Given the description of an element on the screen output the (x, y) to click on. 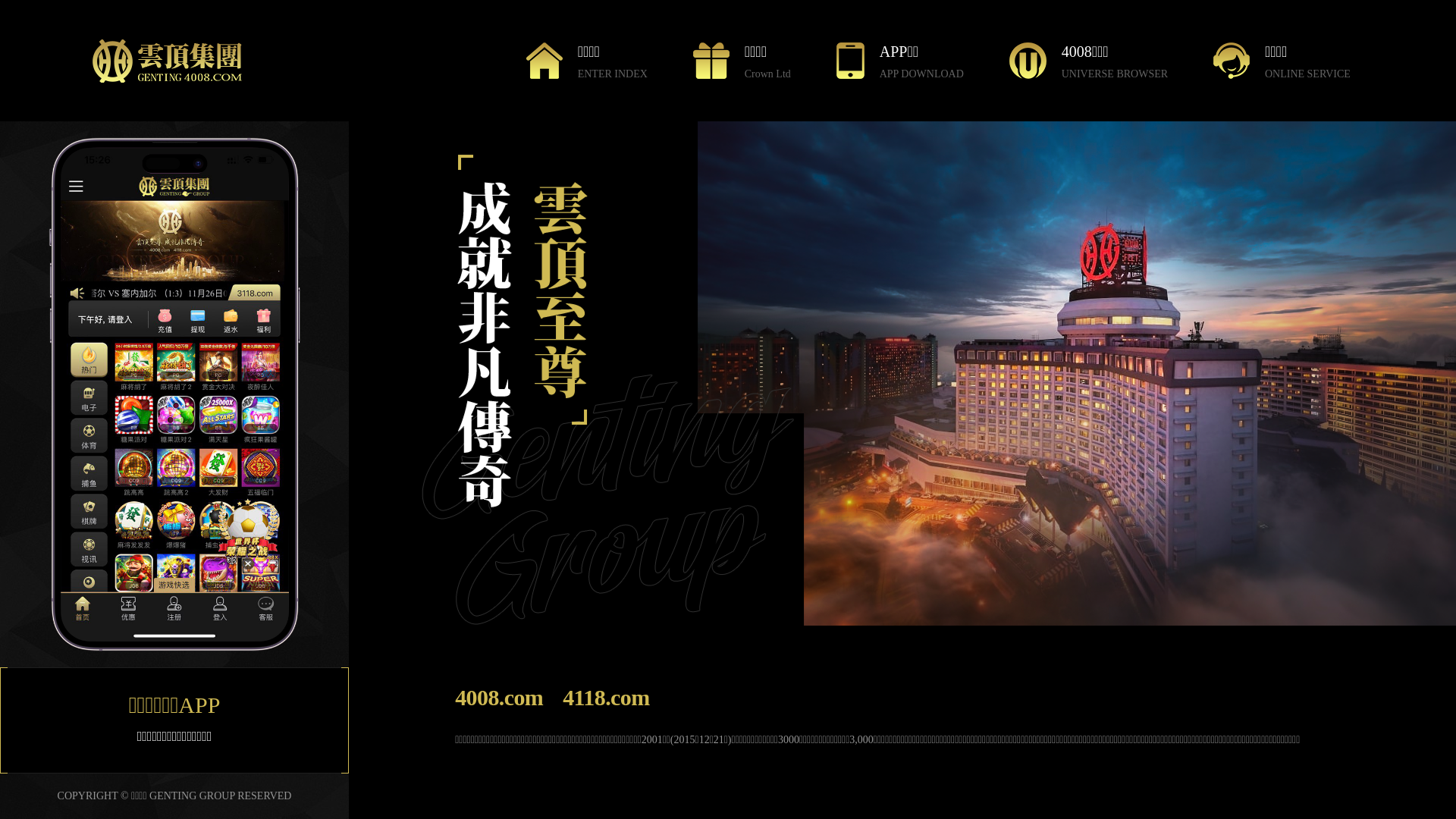
4118.com Element type: text (605, 696)
4008.com Element type: text (498, 696)
